Given the description of an element on the screen output the (x, y) to click on. 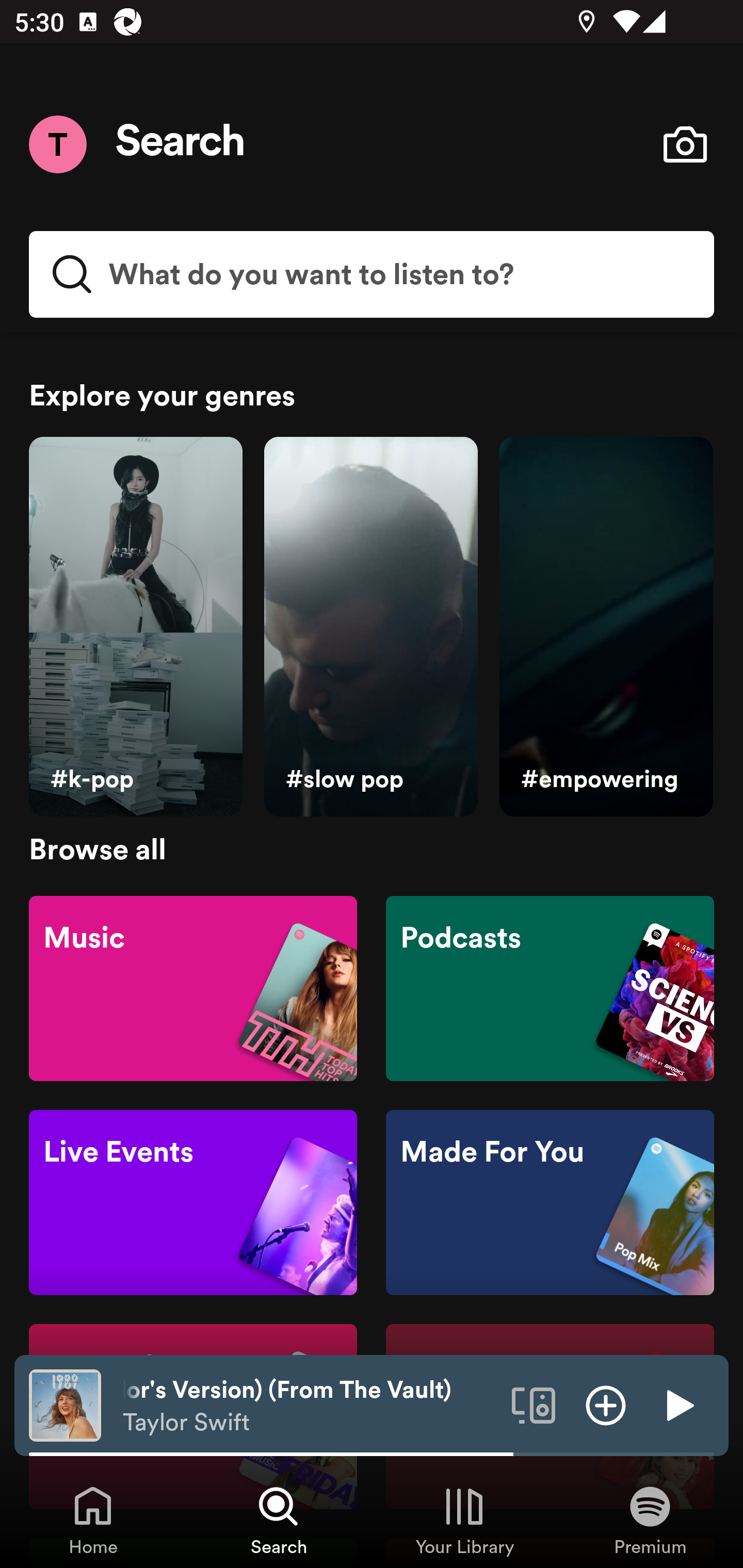
Menu (57, 144)
Open camera (685, 145)
Search (180, 144)
#k-pop (135, 626)
#slow pop (370, 626)
#empowering (606, 626)
Music (192, 987)
Podcasts (549, 987)
Live Events (192, 1202)
Made For You (549, 1202)
The cover art of the currently playing track (64, 1404)
Connect to a device. Opens the devices menu (533, 1404)
Add item (605, 1404)
Play (677, 1404)
Home, Tab 1 of 4 Home Home (92, 1519)
Search, Tab 2 of 4 Search Search (278, 1519)
Your Library, Tab 3 of 4 Your Library Your Library (464, 1519)
Premium, Tab 4 of 4 Premium Premium (650, 1519)
